Given the description of an element on the screen output the (x, y) to click on. 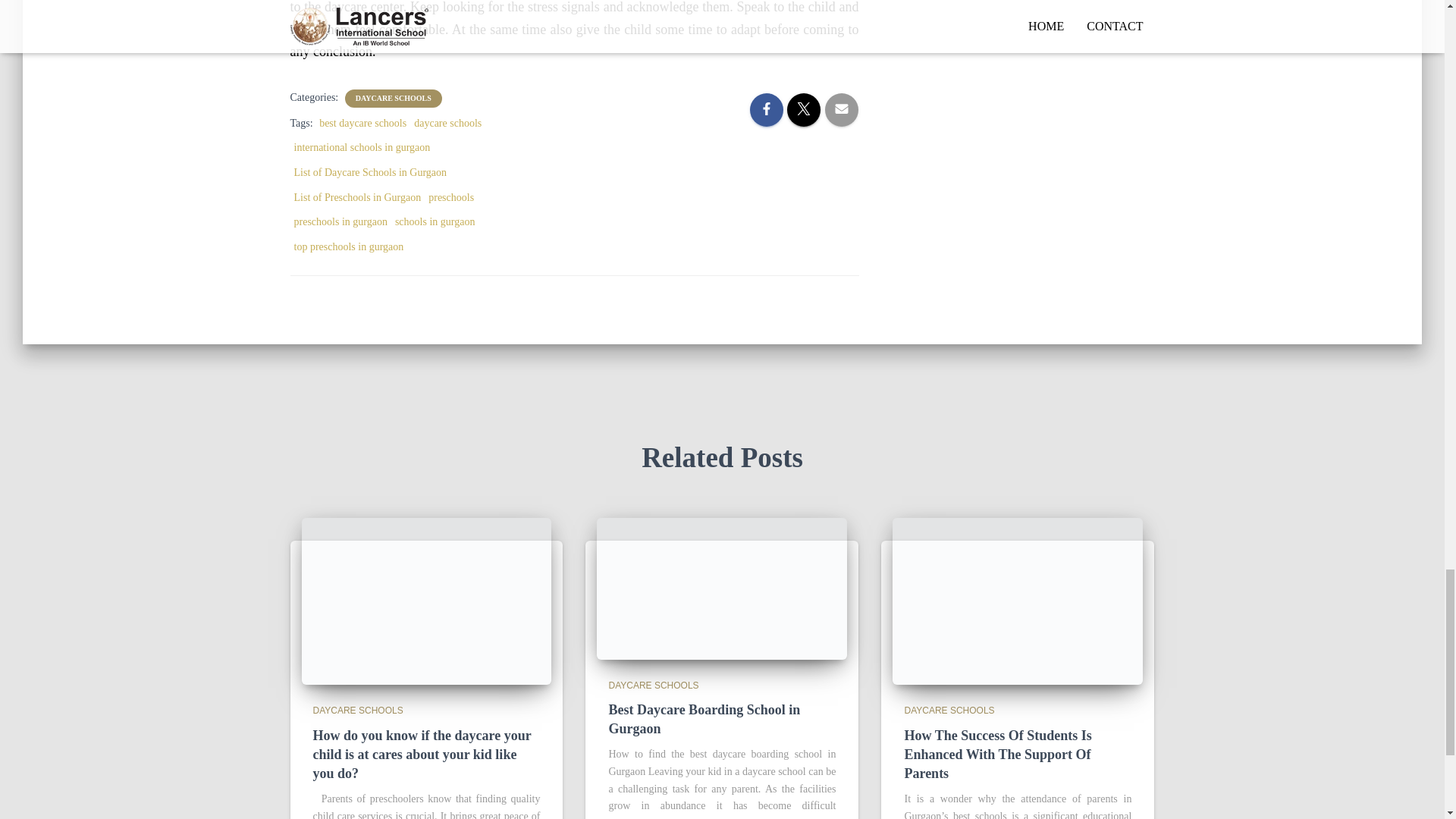
DAYCARE SCHOOLS (358, 710)
View all posts in Daycare Schools (949, 710)
Best Daycare Boarding School in Gurgaon (703, 718)
List of Preschools in Gurgaon (358, 197)
DAYCARE SCHOOLS (653, 685)
DAYCARE SCHOOLS (392, 98)
top preschools in gurgaon (349, 246)
